Given the description of an element on the screen output the (x, y) to click on. 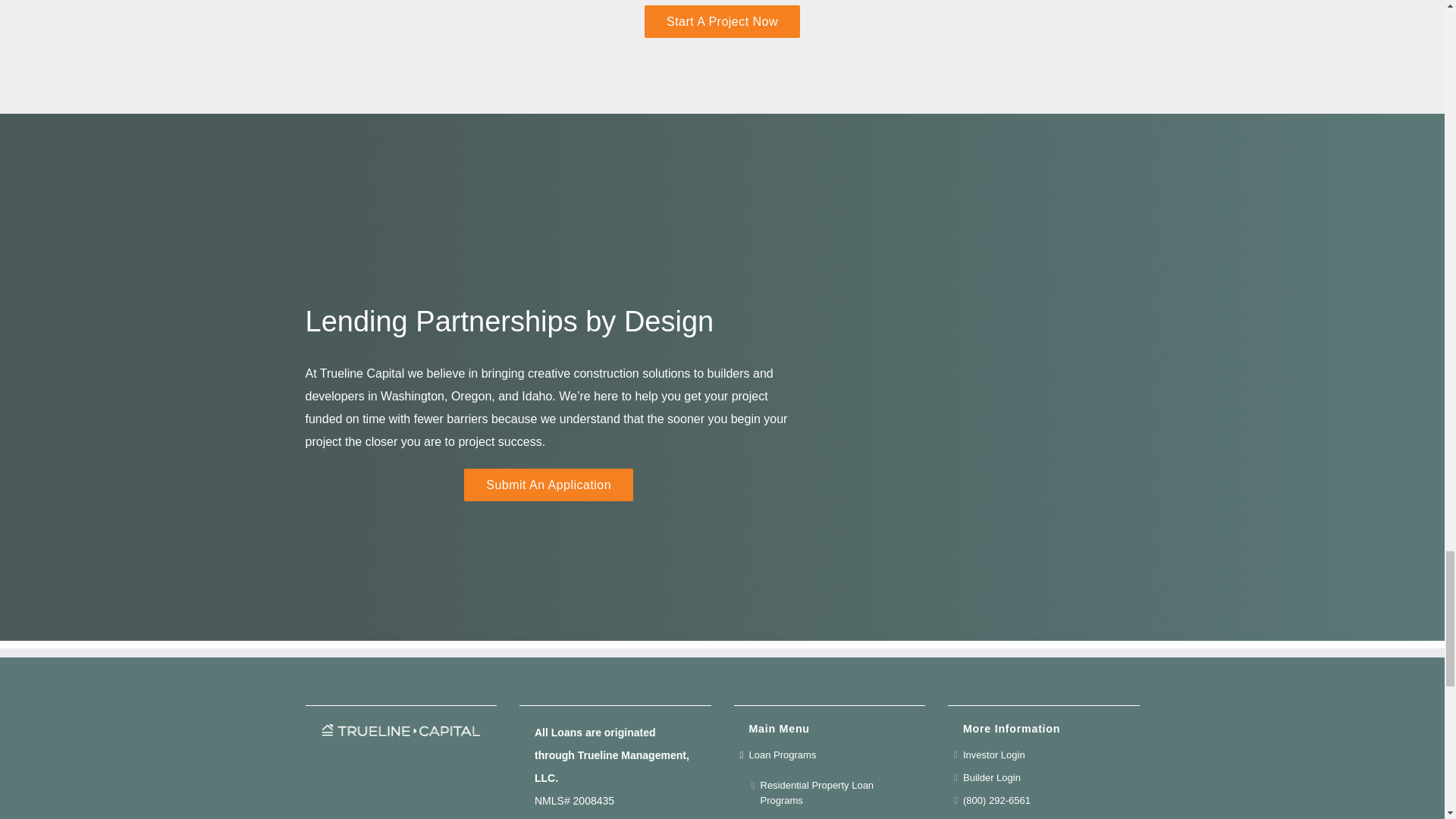
Start A Project Now (722, 20)
Submit An Application (548, 484)
tel (1043, 800)
